Given the description of an element on the screen output the (x, y) to click on. 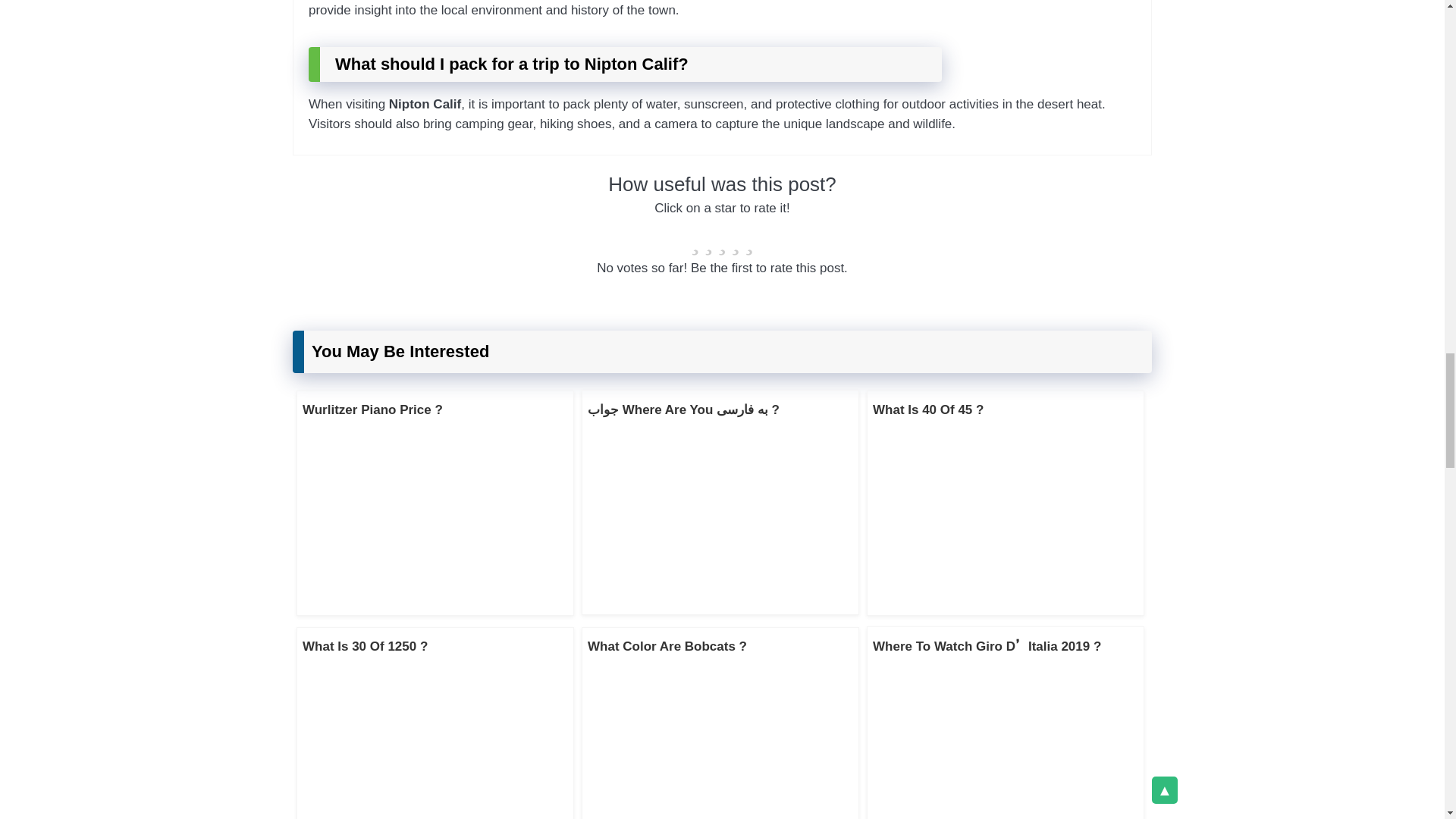
What Color Are Bobcats ? (667, 646)
Wurlitzer Piano Price ? (372, 409)
Wurlitzer Piano Price ? (372, 409)
What Color Are Bobcats ? (667, 646)
What Is 30 Of 1250 ? (365, 646)
What Is 30 Of 1250 ? (365, 646)
